Given the description of an element on the screen output the (x, y) to click on. 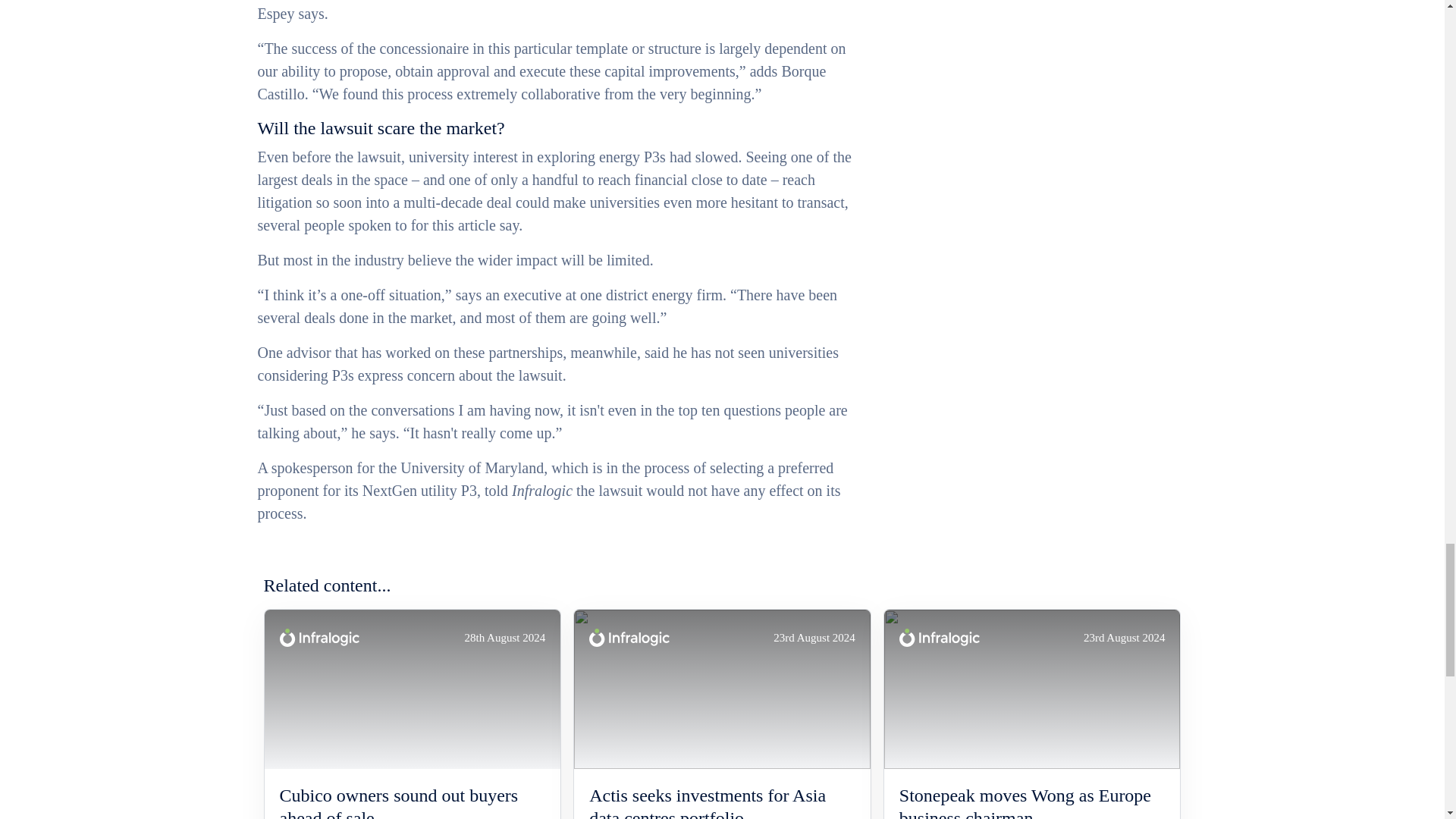
Cubico owners sound out buyers ahead of sale (411, 801)
23rd August 2024 (1031, 689)
23rd August 2024 (721, 689)
Stonepeak moves Wong as Europe business chairman (1032, 801)
Actis seeks investments for Asia data centres portfolio (722, 801)
28th August 2024 (411, 689)
